Given the description of an element on the screen output the (x, y) to click on. 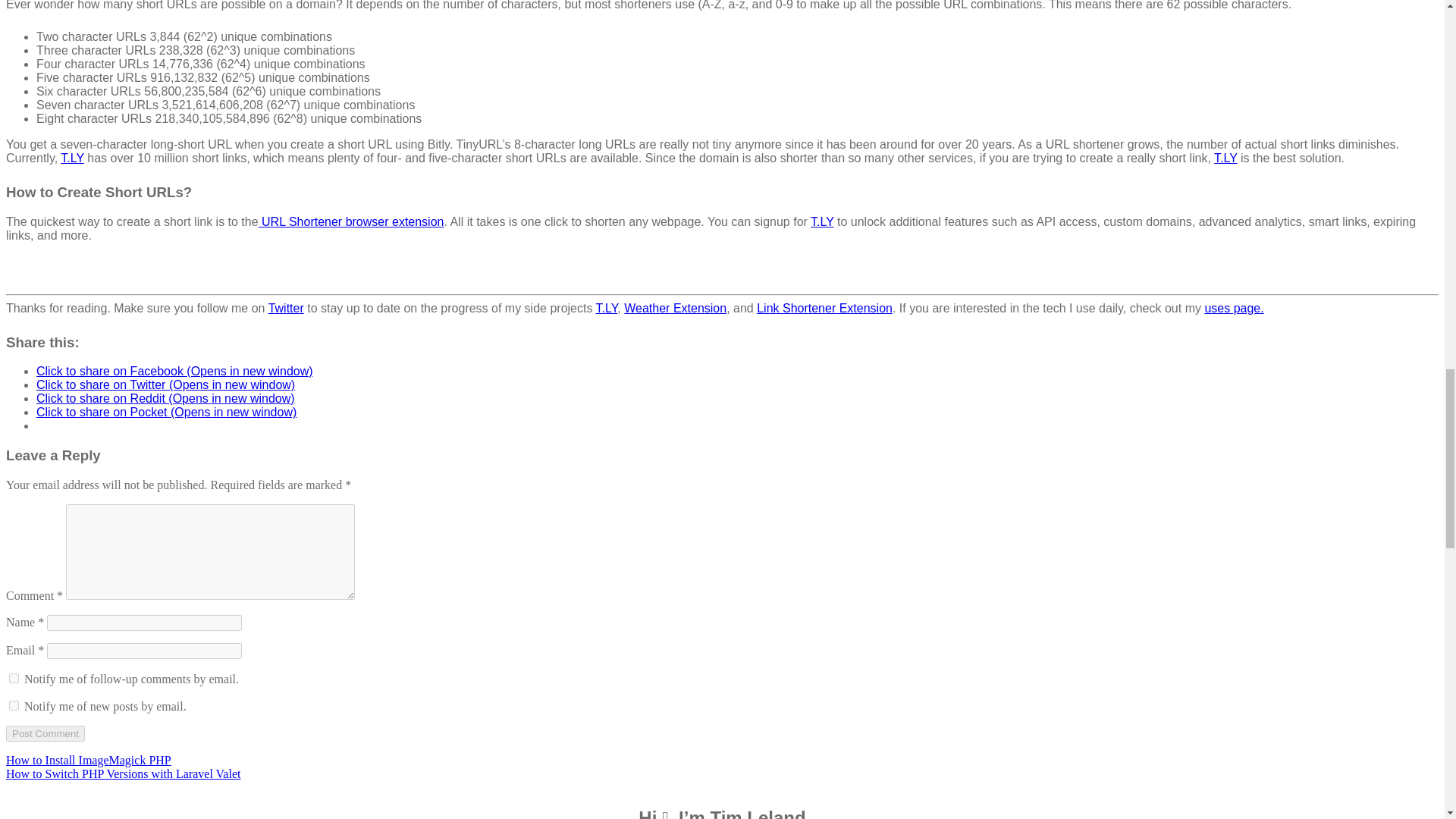
Weather Extension (675, 308)
How to Install ImageMagick PHP (88, 759)
Post Comment (44, 733)
Click to share on Reddit (165, 398)
T.LY (72, 157)
Post Comment (44, 733)
subscribe (13, 678)
T.LY (1225, 157)
subscribe (13, 705)
uses page. (1233, 308)
